Given the description of an element on the screen output the (x, y) to click on. 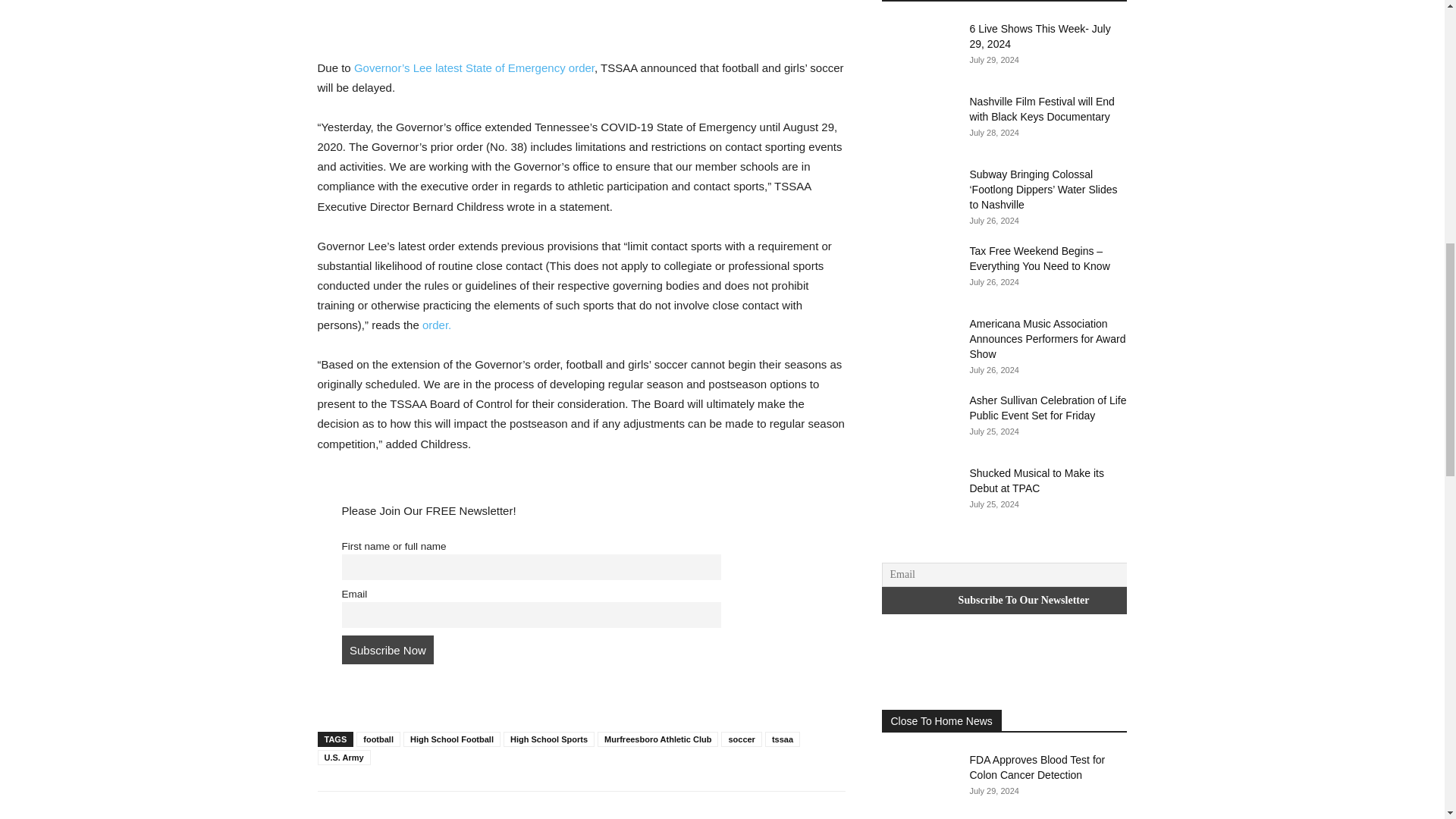
Subscribe To Our Newsletter (1023, 600)
Subscribe Now (386, 649)
